Given the description of an element on the screen output the (x, y) to click on. 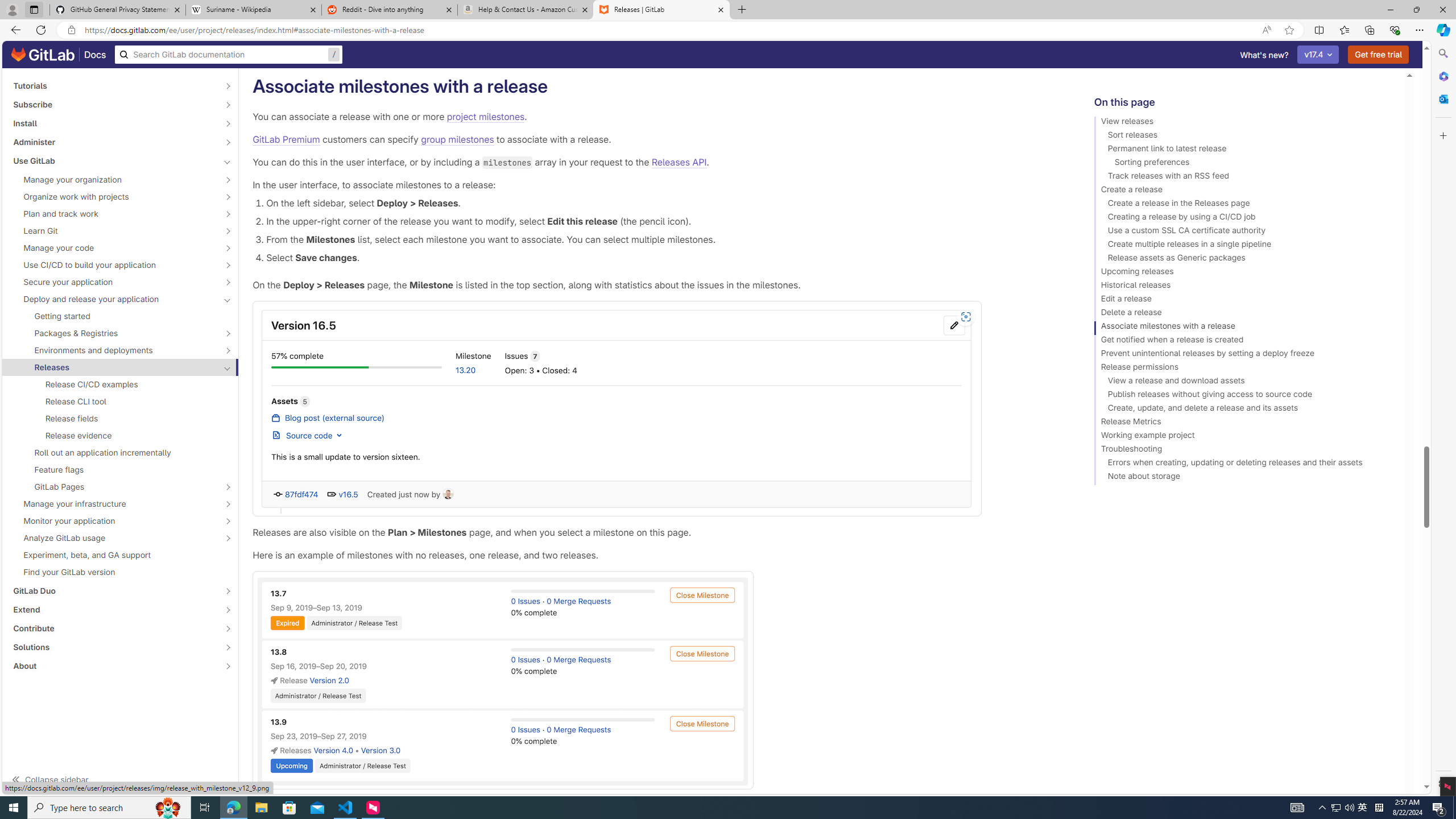
Contribute (113, 628)
Release assets as Generic packages (1244, 259)
Get free trial (1378, 54)
Suriname - Wikipedia (253, 9)
Permanent link to latest release (1244, 150)
project milestones (485, 116)
Analyze GitLab usage (113, 537)
Sort releases (1244, 136)
Extend (113, 609)
Sorting preferences (1244, 164)
What's new? (1263, 54)
